Given the description of an element on the screen output the (x, y) to click on. 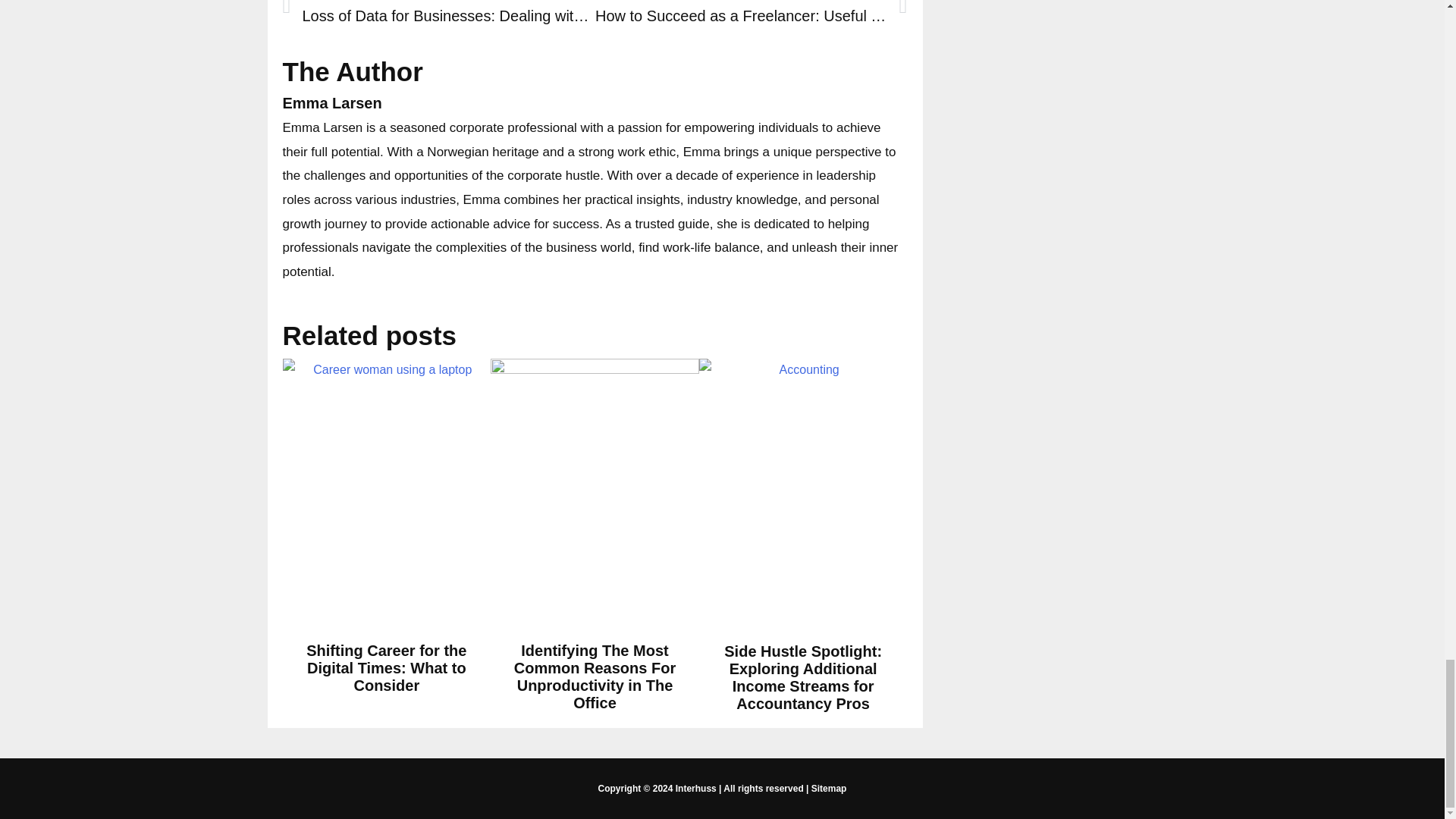
Sitemap (828, 787)
Shifting Career for the Digital Times: What to Consider (385, 667)
